Given the description of an element on the screen output the (x, y) to click on. 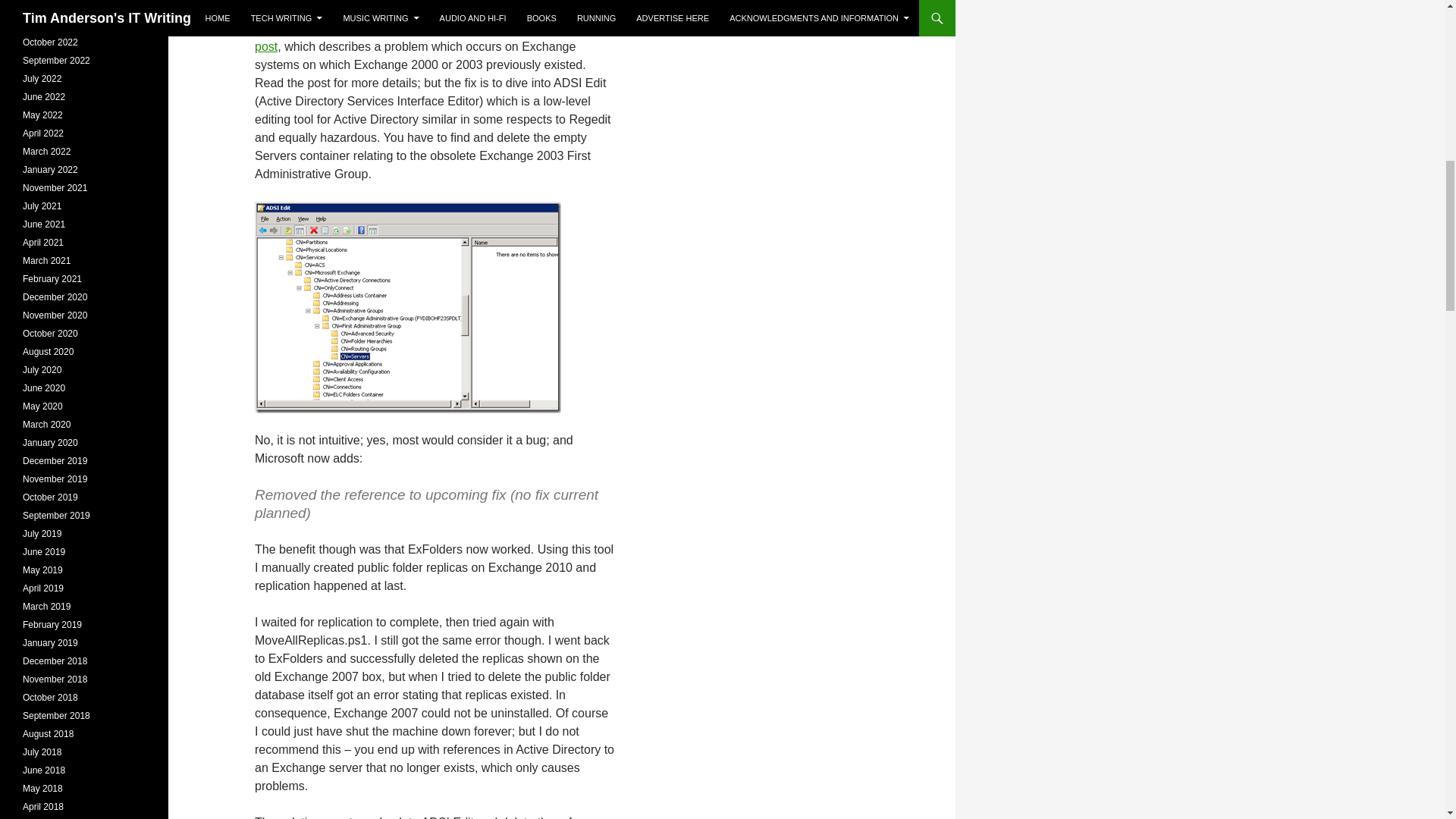
blog post (438, 28)
image (407, 307)
official post (424, 37)
